Given the description of an element on the screen output the (x, y) to click on. 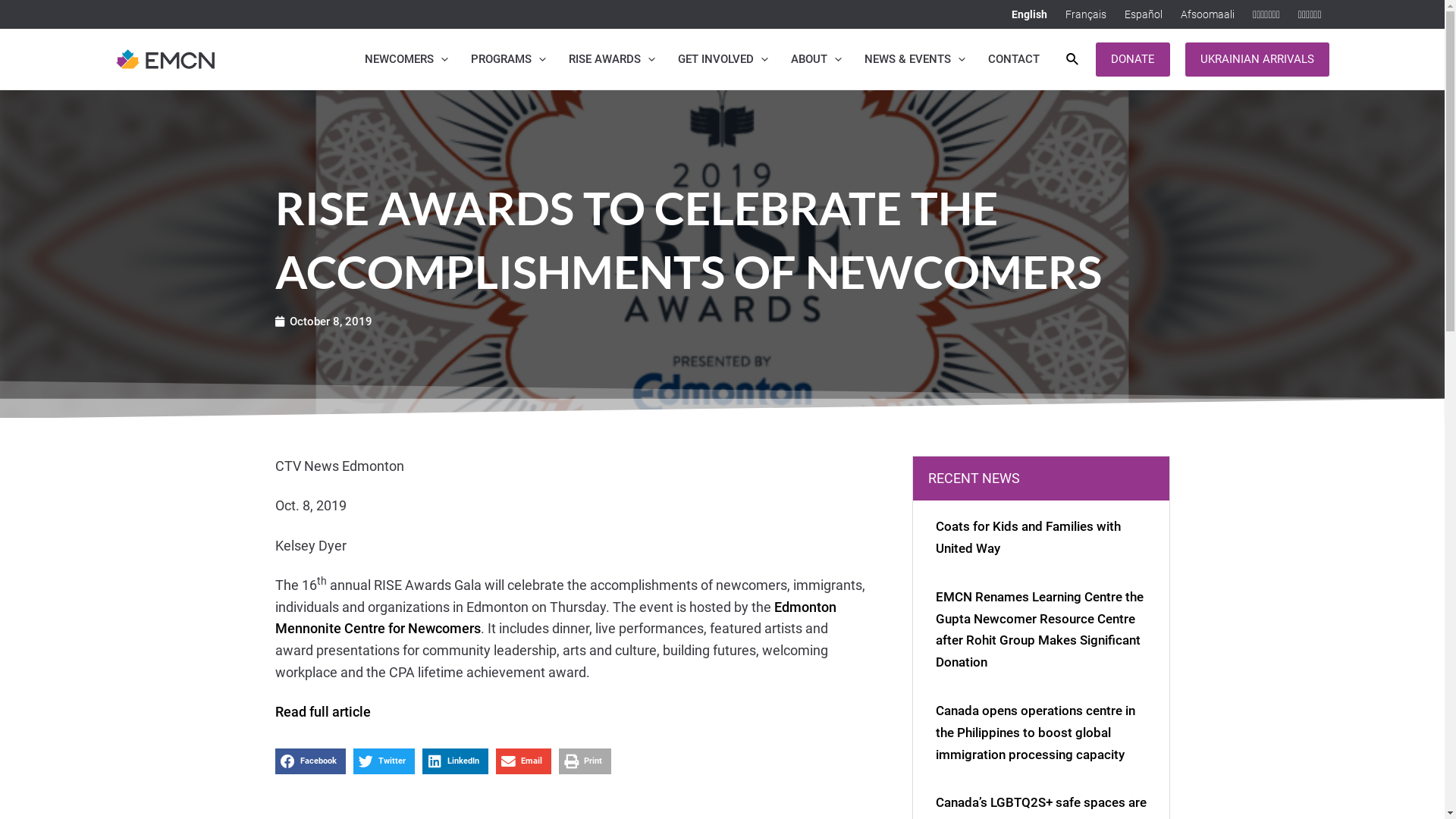
RISE AWARDS Element type: text (611, 58)
CONTACT Element type: text (1013, 58)
October 8, 2019 Element type: text (322, 321)
DONATE Element type: text (1132, 59)
Afsoomaali Element type: text (1207, 13)
UKRAINIAN ARRIVALS Element type: text (1256, 59)
Edmonton Mennonite Centre for Newcomers Element type: text (554, 618)
English Element type: text (1029, 13)
NEWCOMERS Element type: text (406, 58)
Coats for Kids and Families with United Way Element type: text (1027, 536)
GET INVOLVED Element type: text (722, 58)
Read full article Element type: text (322, 711)
ABOUT Element type: text (816, 58)
NEWS & EVENTS Element type: text (914, 58)
PROGRAMS Element type: text (508, 58)
Search Element type: text (1072, 59)
